Given the description of an element on the screen output the (x, y) to click on. 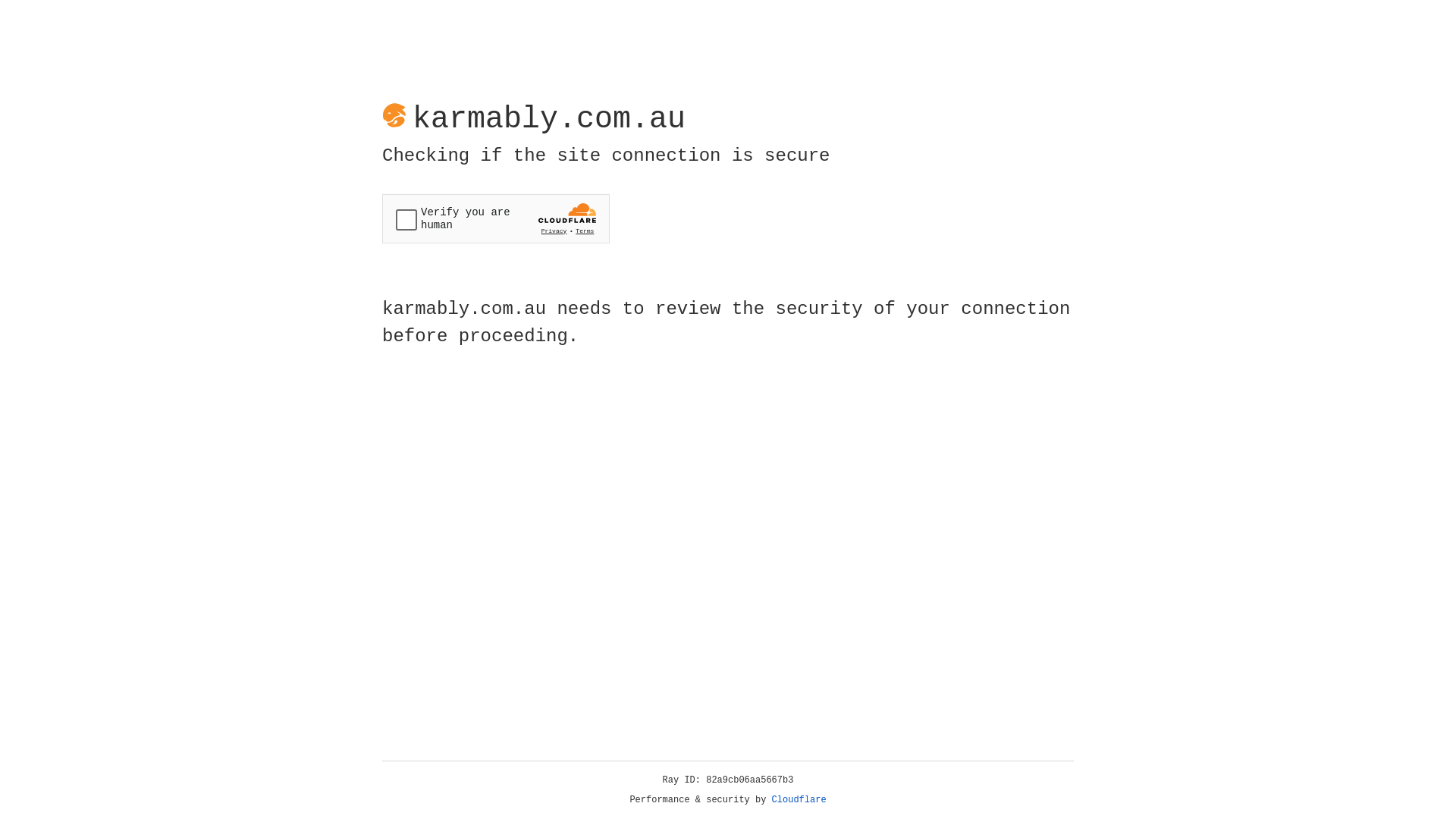
Cloudflare Element type: text (798, 799)
Widget containing a Cloudflare security challenge Element type: hover (495, 218)
